Given the description of an element on the screen output the (x, y) to click on. 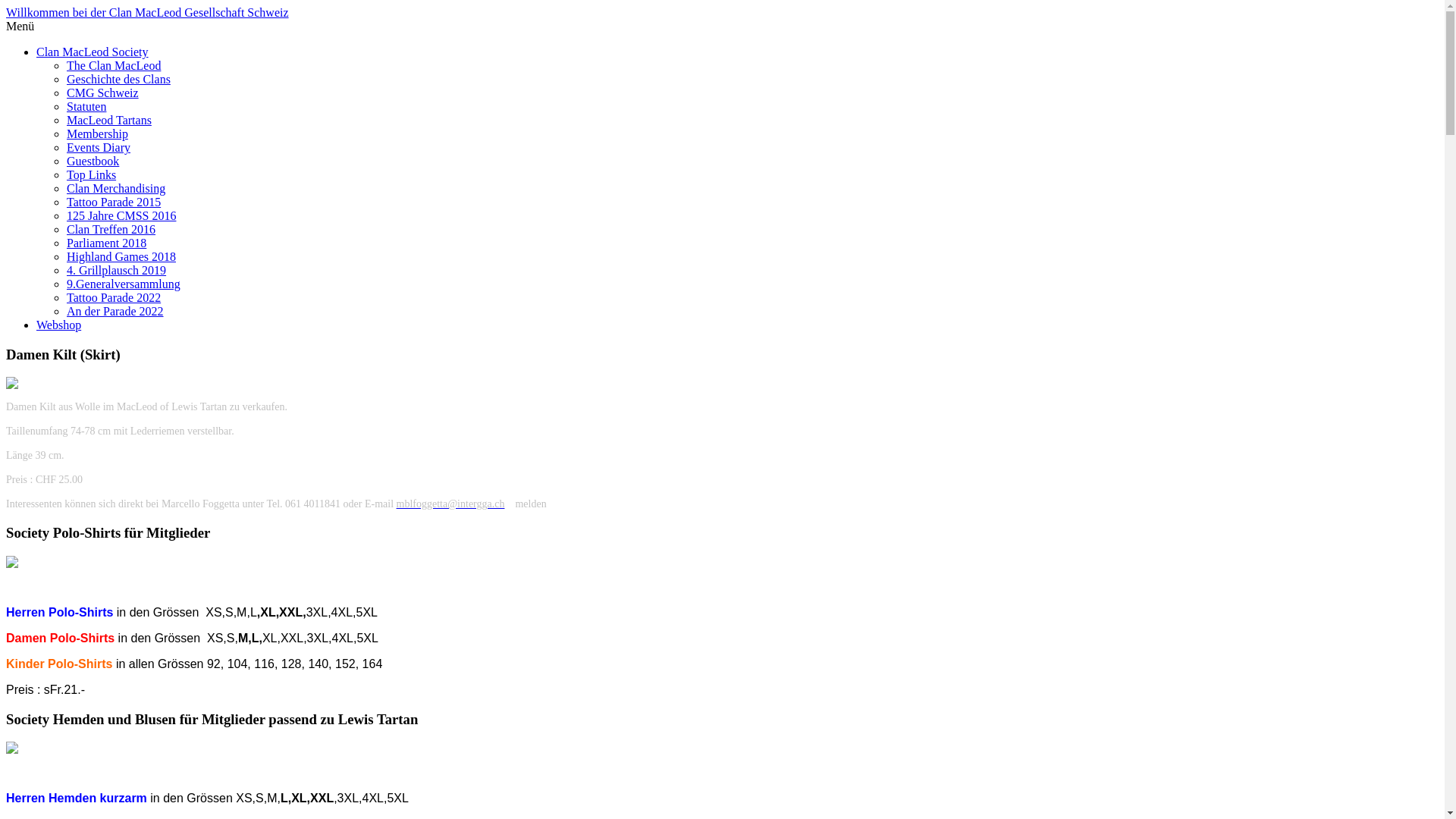
Tattoo Parade 2015 Element type: text (113, 201)
Webshop Element type: text (58, 324)
4. Grillplausch 2019 Element type: text (116, 269)
MacLeod Tartans Element type: text (108, 119)
melden Element type: text (530, 503)
Top Links Element type: text (91, 174)
125 Jahre CMSS 2016 Element type: text (120, 215)
Tattoo Parade 2022 Element type: text (113, 297)
CMG Schweiz Element type: text (102, 92)
mblfoggetta@intergga.ch Element type: text (450, 503)
Clan Treffen 2016 Element type: text (110, 228)
9.Generalversammlung Element type: text (123, 283)
Guestbook Element type: text (92, 160)
The Clan MacLeod Element type: text (113, 65)
Parliament 2018 Element type: text (106, 242)
Geschichte des Clans Element type: text (118, 78)
An der Parade 2022 Element type: text (114, 310)
Clan MacLeod Society Element type: text (92, 51)
Highland Games 2018 Element type: text (120, 256)
Events Diary Element type: text (98, 147)
Membership Element type: text (97, 133)
Clan Merchandising Element type: text (115, 188)
Statuten Element type: text (86, 106)
Willkommen bei der Clan MacLeod Gesellschaft Schweiz Element type: text (147, 12)
